Given the description of an element on the screen output the (x, y) to click on. 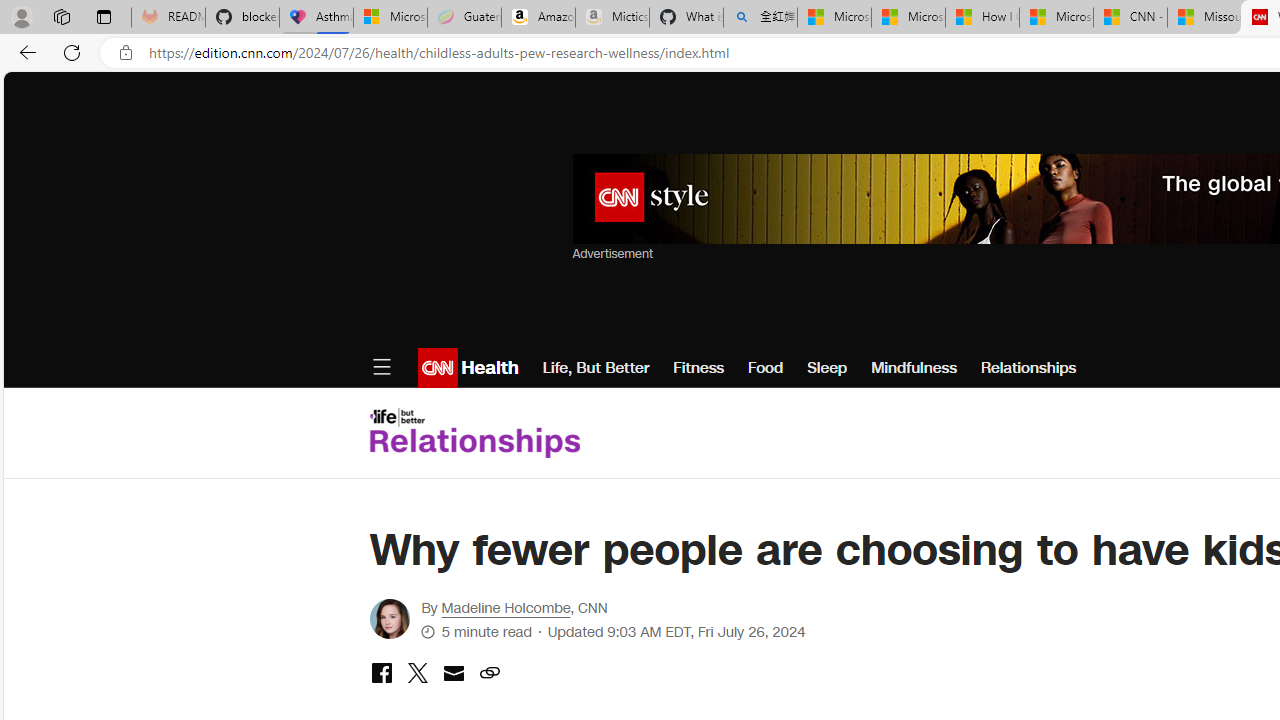
Class: icon-ui-link (489, 672)
Relationships (1028, 367)
Fitness (698, 367)
Life, But Better (595, 367)
share with facebook (381, 674)
Open Menu Icon (381, 367)
